Given the description of an element on the screen output the (x, y) to click on. 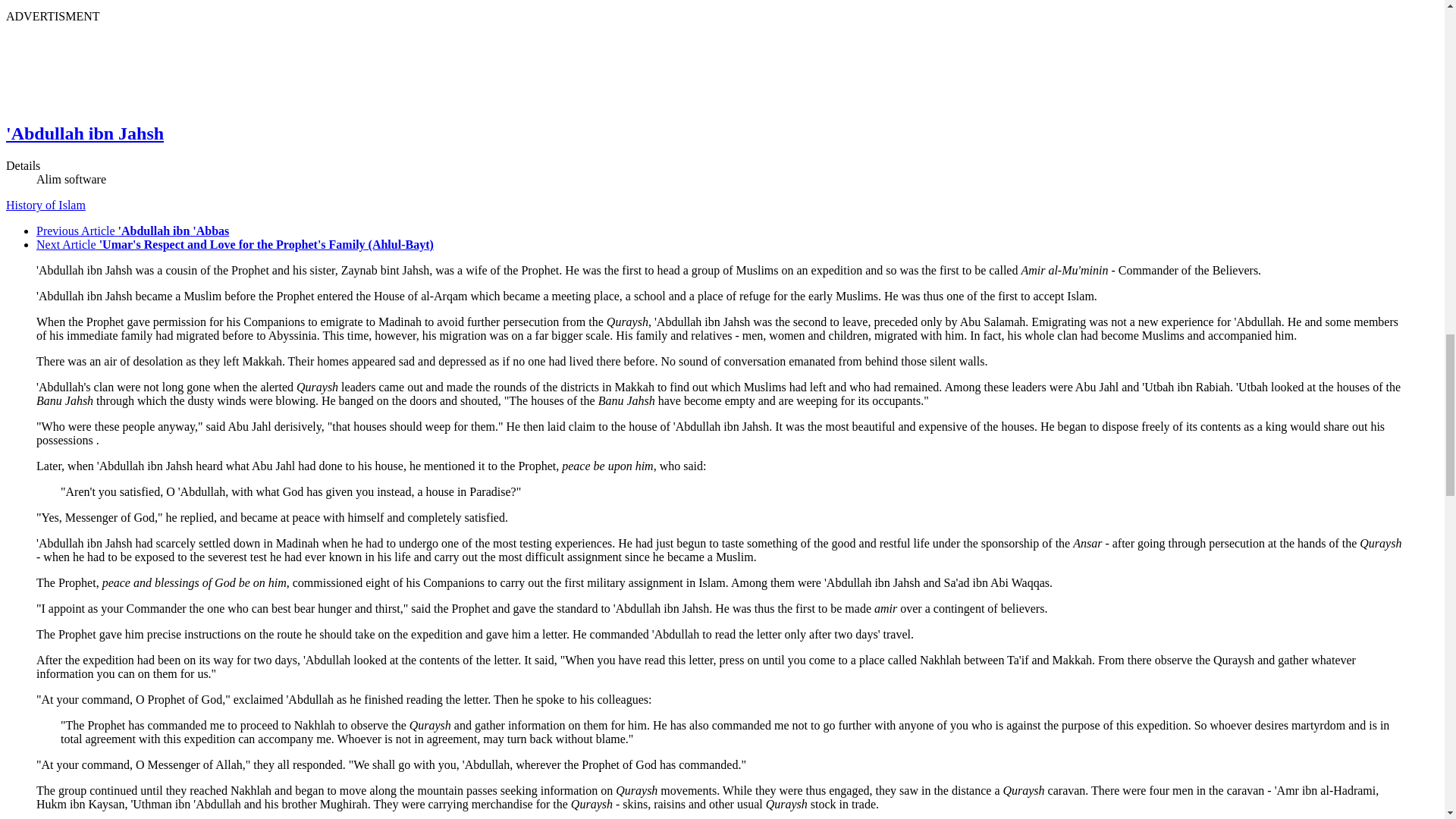
'Abdullah ibn Jahsh (84, 133)
Category:  (45, 205)
